Given the description of an element on the screen output the (x, y) to click on. 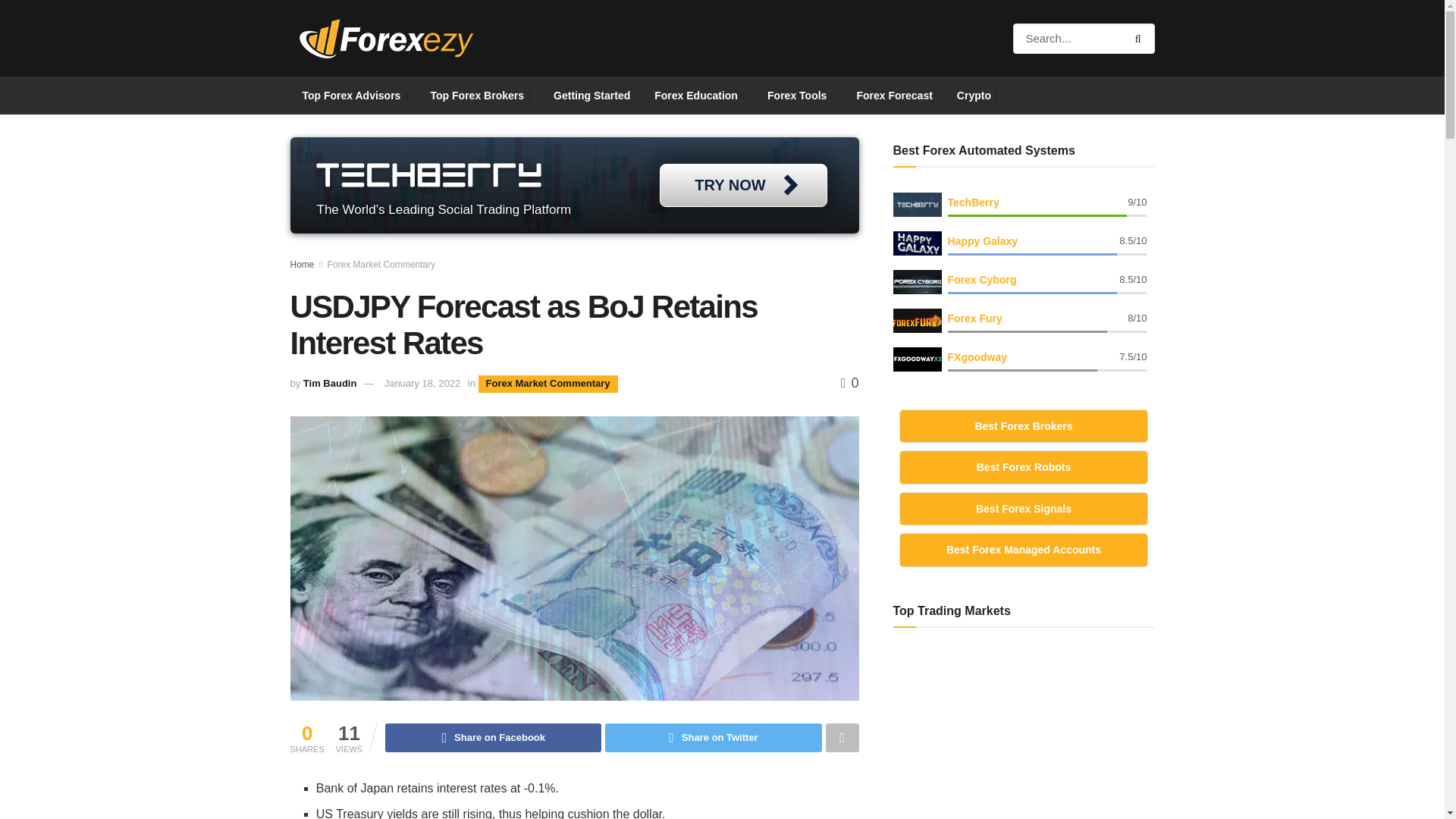
Top Forex Advisors (353, 95)
Forex Education (698, 95)
Crypto (976, 95)
Top Forex Brokers (480, 95)
Forex Forecast (893, 95)
Getting Started (591, 95)
Forex Tools (799, 95)
